Given the description of an element on the screen output the (x, y) to click on. 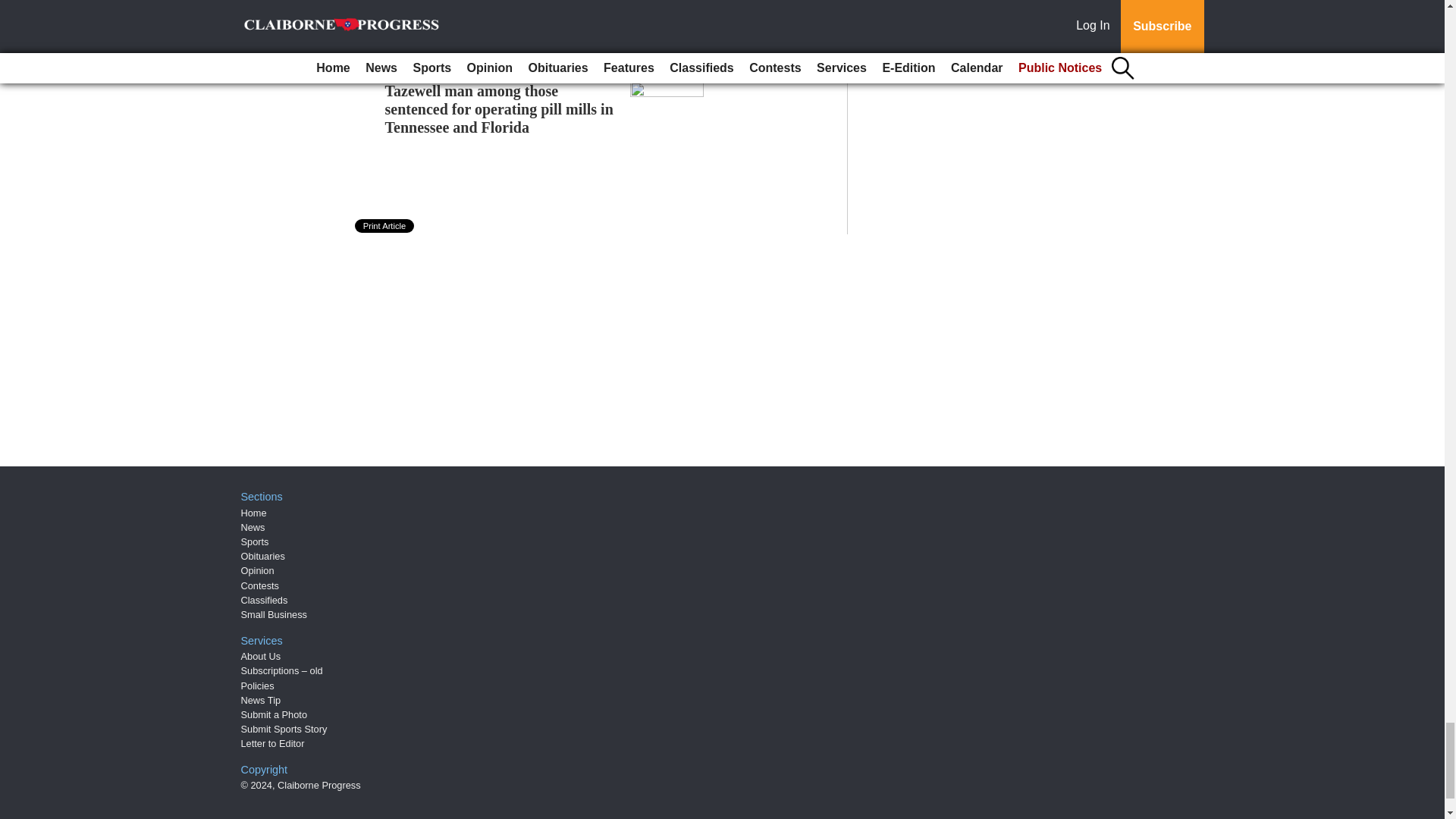
News (252, 527)
Print Article (384, 225)
Home (253, 512)
